Given the description of an element on the screen output the (x, y) to click on. 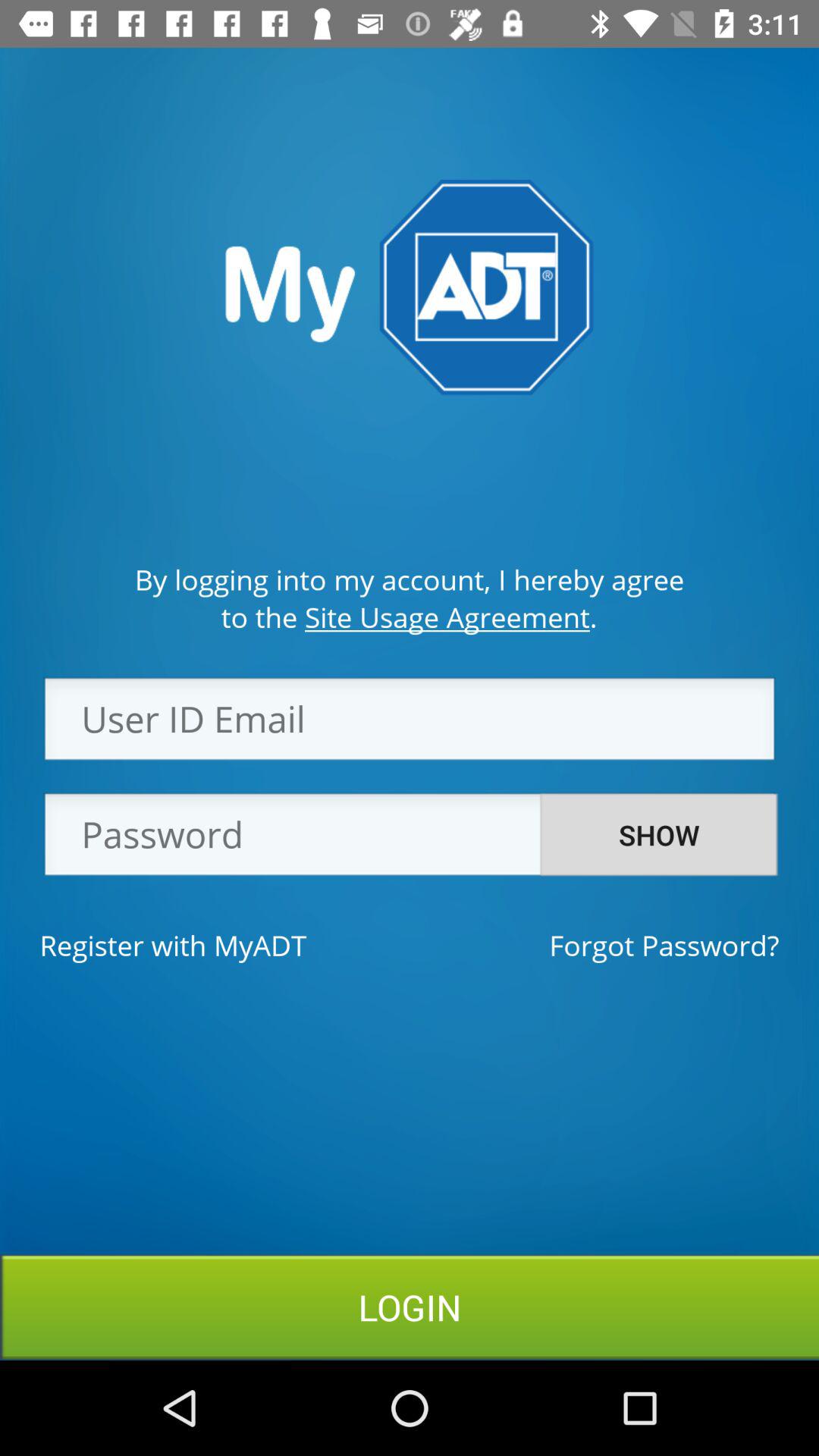
click the icon above register with myadt icon (409, 838)
